Given the description of an element on the screen output the (x, y) to click on. 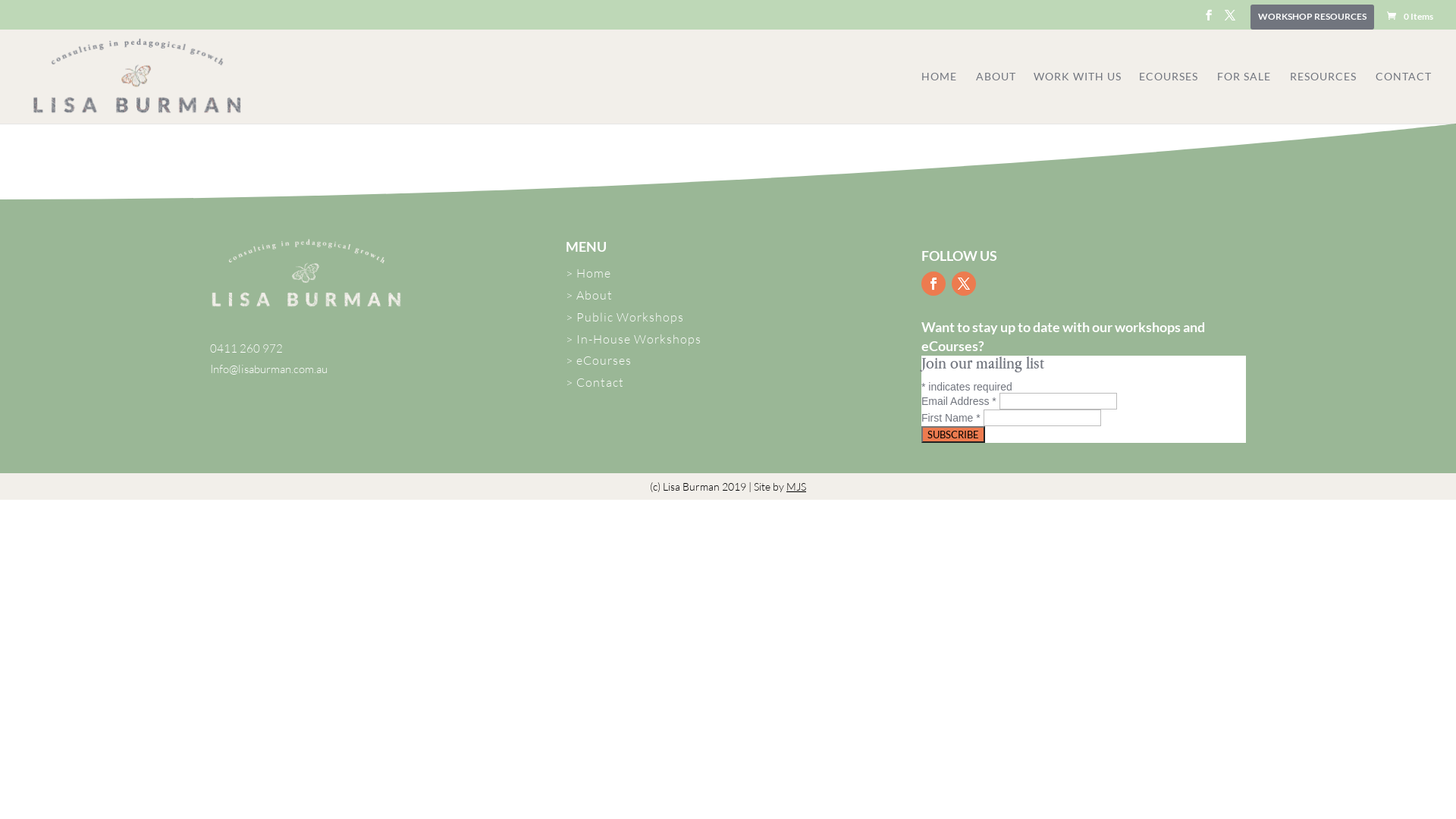
ECOURSES Element type: text (1168, 97)
CONTACT Element type: text (1403, 97)
> Home Element type: text (588, 272)
HOME Element type: text (939, 97)
MJS Element type: text (796, 486)
Contact Element type: text (600, 381)
FOR SALE Element type: text (1243, 97)
eCourses Element type: text (603, 359)
ABOUT Element type: text (1003, 97)
Follow on Twitter Element type: hover (963, 283)
WORKSHOP RESOURCES Element type: text (1312, 20)
Public Workshops Element type: text (630, 316)
0 Items Element type: text (1409, 15)
In-House Workshops Element type: text (638, 338)
RESOURCES Element type: text (1322, 97)
Subscribe Element type: text (953, 434)
About Element type: text (594, 294)
WORK WITH US Element type: text (1084, 97)
Follow on Facebook Element type: hover (933, 283)
